Given the description of an element on the screen output the (x, y) to click on. 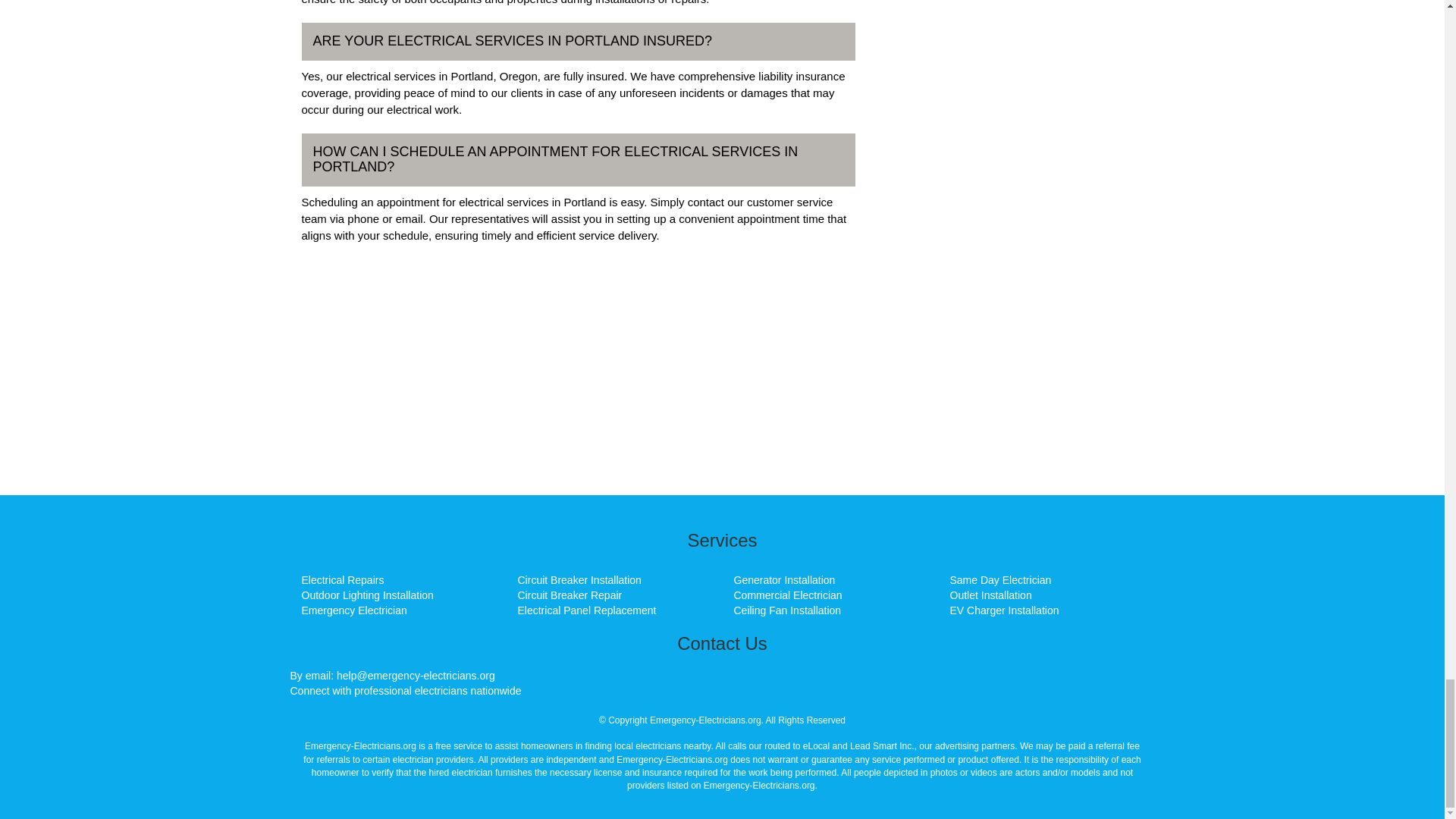
Commercial Electrician (788, 594)
Generator Installation (784, 580)
Circuit Breaker Installation (578, 580)
Ceiling Fan Installation (787, 610)
Same Day Electrician (1000, 580)
Emergency Electrician (354, 610)
Outdoor Lighting Installation (367, 594)
Circuit Breaker Repair (568, 594)
Electrical Panel Replacement (586, 610)
Electrical Repairs (342, 580)
